Given the description of an element on the screen output the (x, y) to click on. 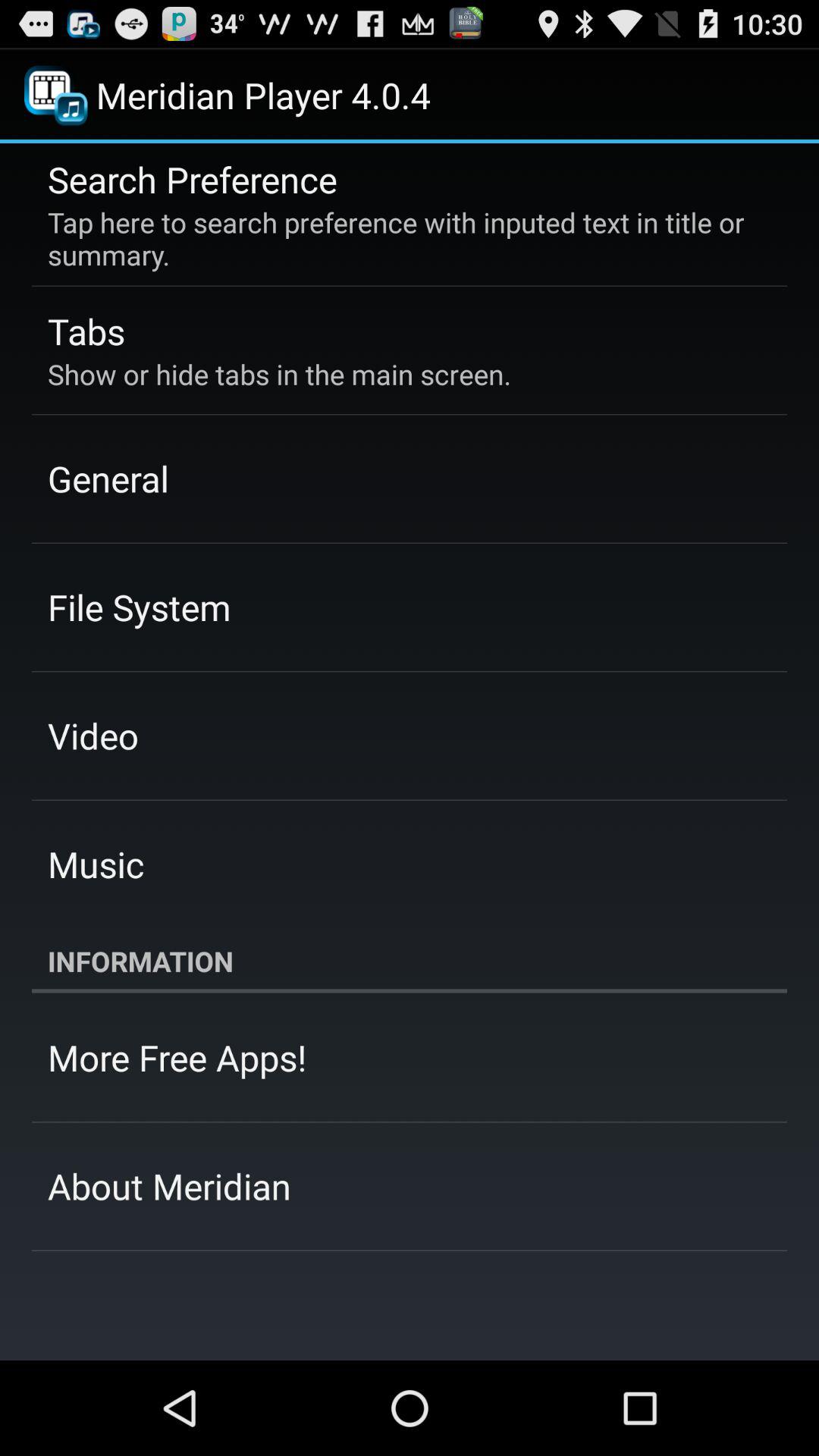
flip until the show or hide icon (279, 374)
